Given the description of an element on the screen output the (x, y) to click on. 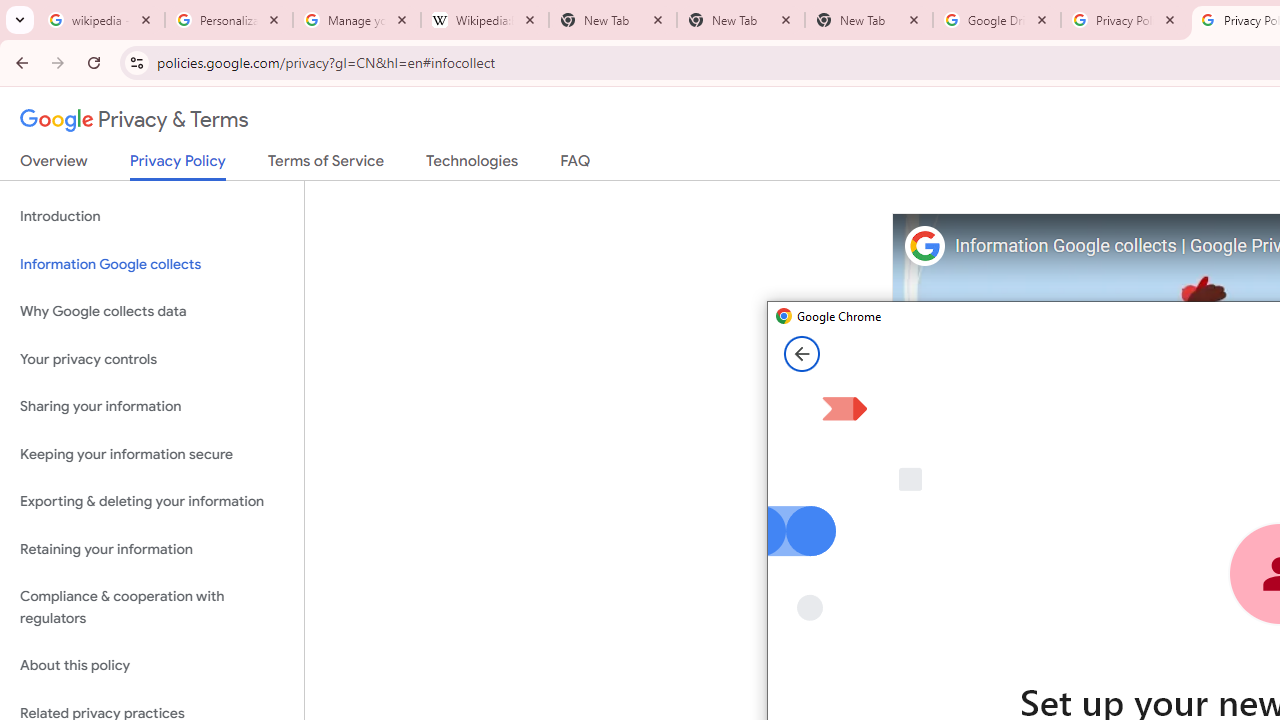
Sharing your information (152, 407)
Your privacy controls (152, 358)
Information Google collects (152, 263)
Exporting & deleting your information (152, 502)
Introduction (152, 216)
Wikipedia:Edit requests - Wikipedia (485, 20)
FAQ (575, 165)
Privacy & Terms (134, 120)
Keeping your information secure (152, 453)
Retaining your information (152, 548)
